Given the description of an element on the screen output the (x, y) to click on. 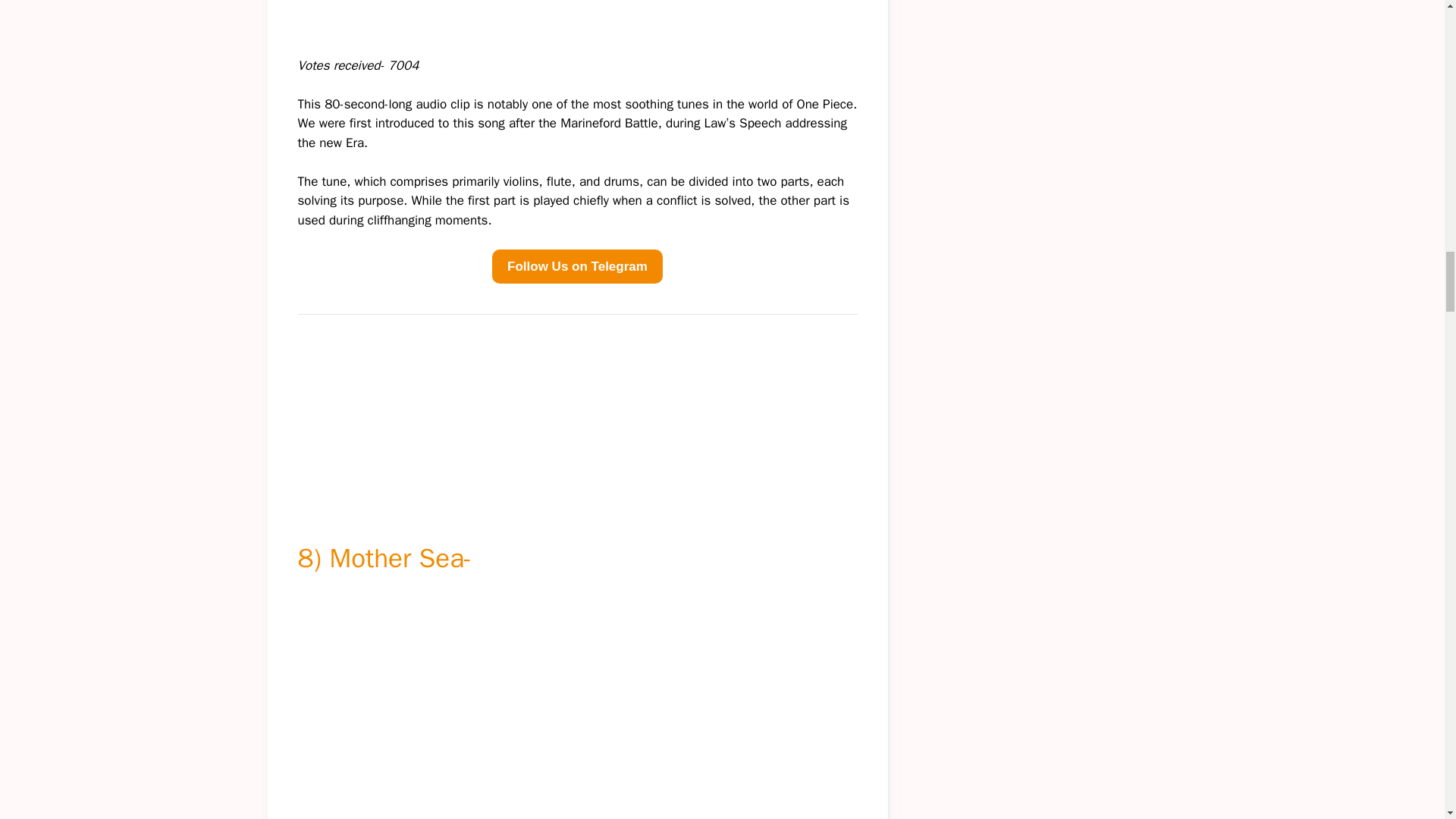
Follow Us on Telegram (577, 266)
